Given the description of an element on the screen output the (x, y) to click on. 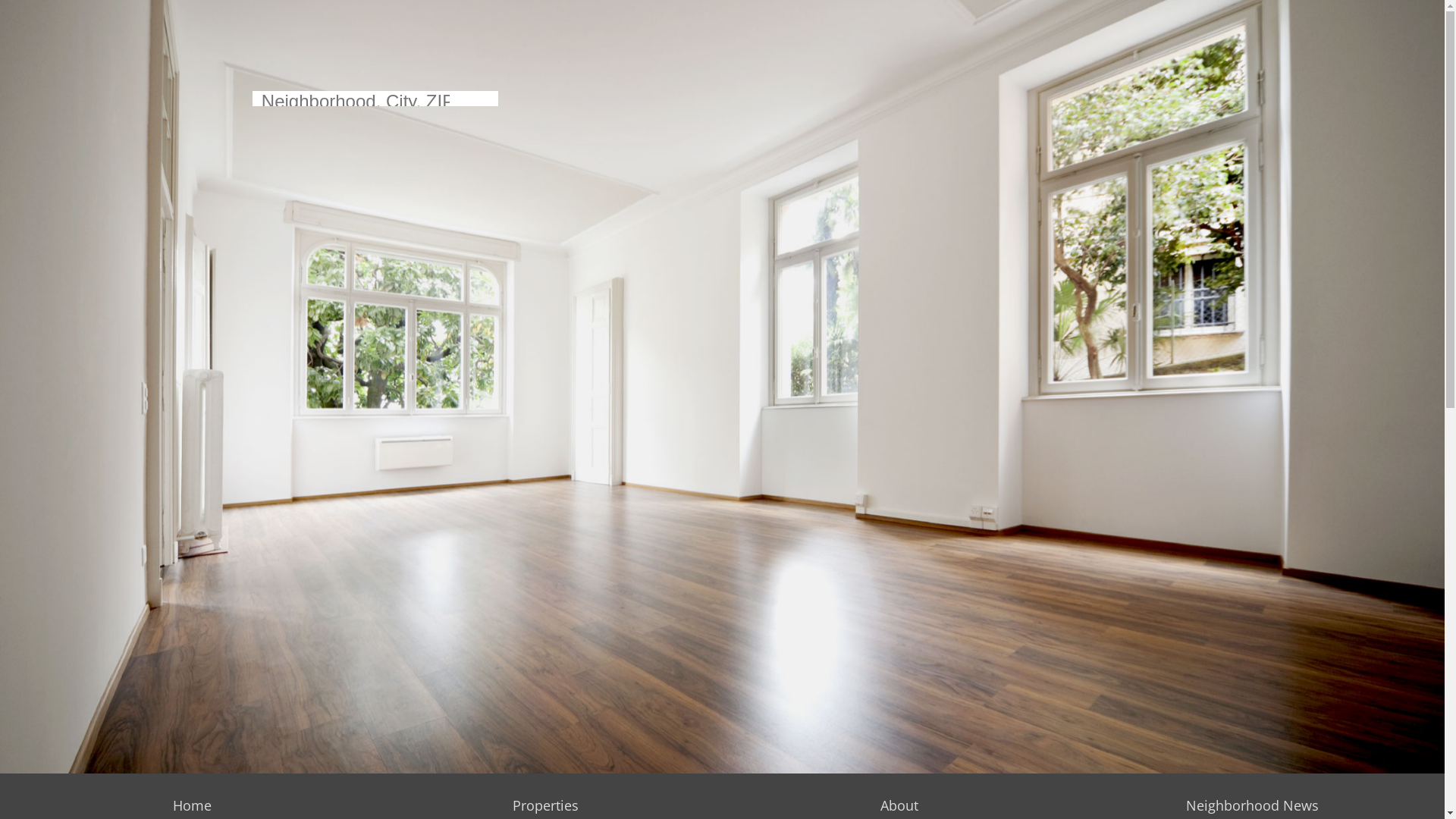
My Active Listings Element type: text (791, 144)
Danielle Alvarez Element type: text (1175, 144)
What People Are Saying Element type: text (1045, 159)
Neighborhood News Element type: text (1252, 805)
Property Search Element type: text (906, 144)
Miriah McPeck Element type: text (1171, 159)
Contact Element type: text (1414, 158)
My Active Listings Element type: text (910, 159)
Home Element type: text (191, 805)
Todd Schapmire Sr. Element type: text (1184, 113)
Buyer's Guide Element type: text (1298, 98)
Agents Element type: text (1147, 67)
Commercial Element type: text (893, 113)
About Element type: text (995, 113)
Neighborhood News Element type: text (1315, 144)
About Element type: text (899, 805)
Financial Calculators Element type: text (1315, 159)
Seller's Guide Element type: text (1297, 113)
Properties Element type: text (545, 805)
The Team Element type: text (1009, 144)
Buy | Sell Element type: text (1282, 67)
Buying & Selling Tips Element type: text (1316, 128)
Property Search Element type: text (787, 128)
Gary Negri Element type: text (1161, 128)
Todd Schapmire Element type: text (1176, 98)
Residential Element type: text (771, 98)
Home Element type: text (707, 158)
My Sold Listings Element type: text (787, 159)
